Given the description of an element on the screen output the (x, y) to click on. 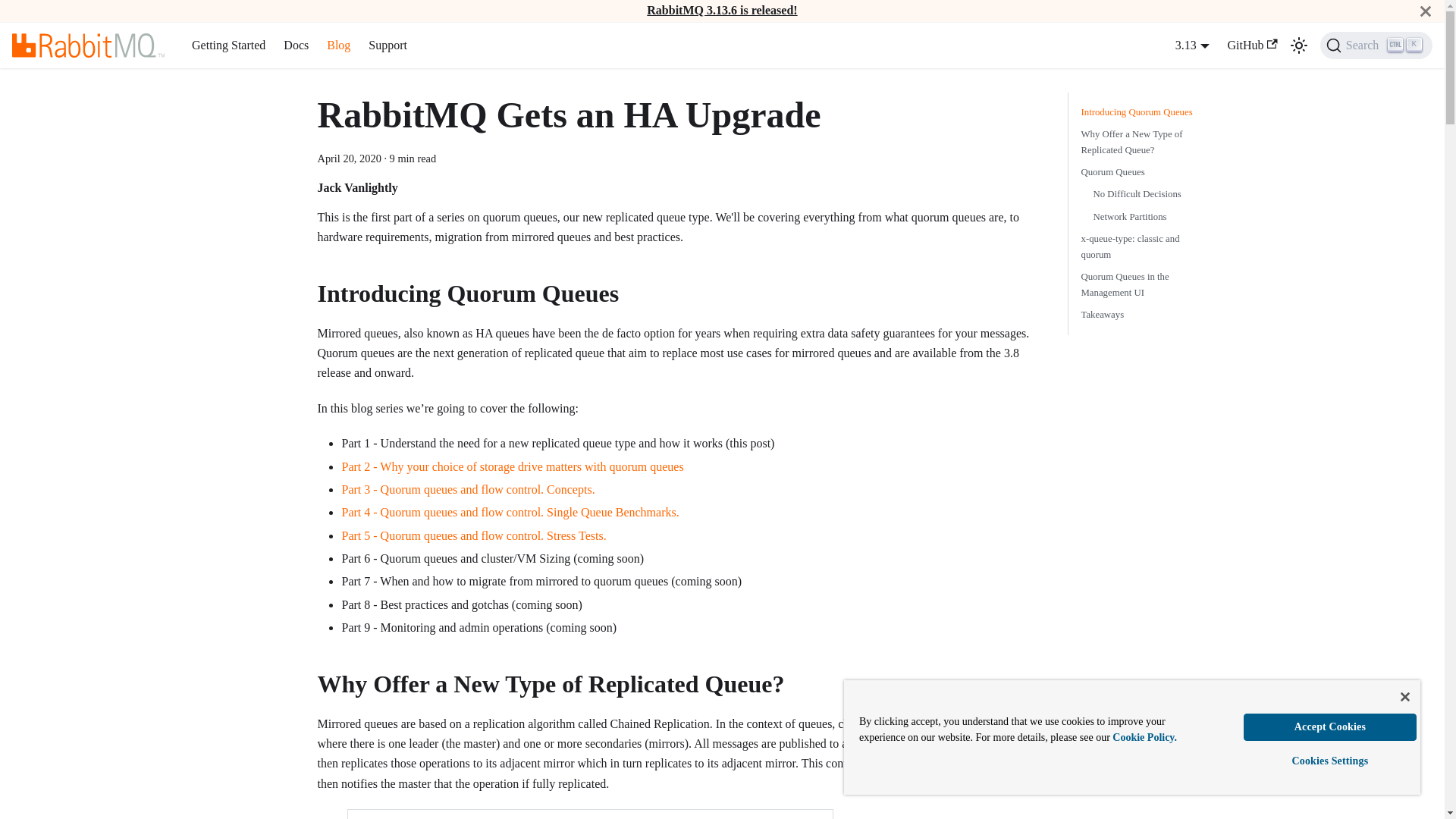
Support (387, 45)
RabbitMQ 3.13.6 is released! (721, 10)
Blog (338, 45)
GitHub (1252, 45)
Part 5 - Quorum queues and flow control. Stress Tests. (472, 535)
Getting Started (1376, 44)
3.13 (229, 45)
Docs (1191, 44)
Why Offer a New Type of Replicated Queue? (296, 45)
Part 3 - Quorum queues and flow control. Concepts. (1142, 142)
No Difficult Decisions (467, 489)
Network Partitions (1145, 194)
